Given the description of an element on the screen output the (x, y) to click on. 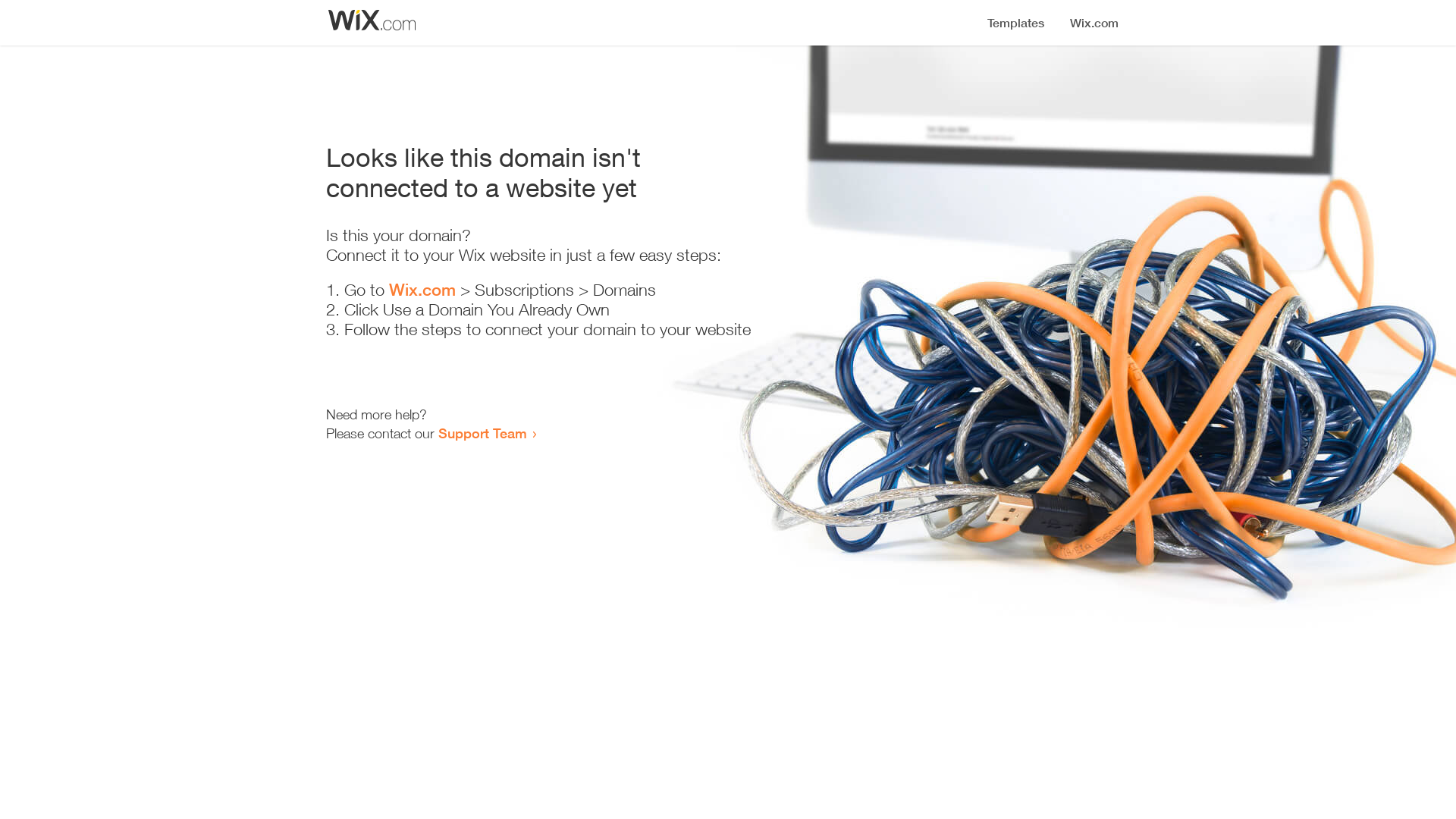
Wix.com Element type: text (422, 289)
Support Team Element type: text (482, 432)
